Given the description of an element on the screen output the (x, y) to click on. 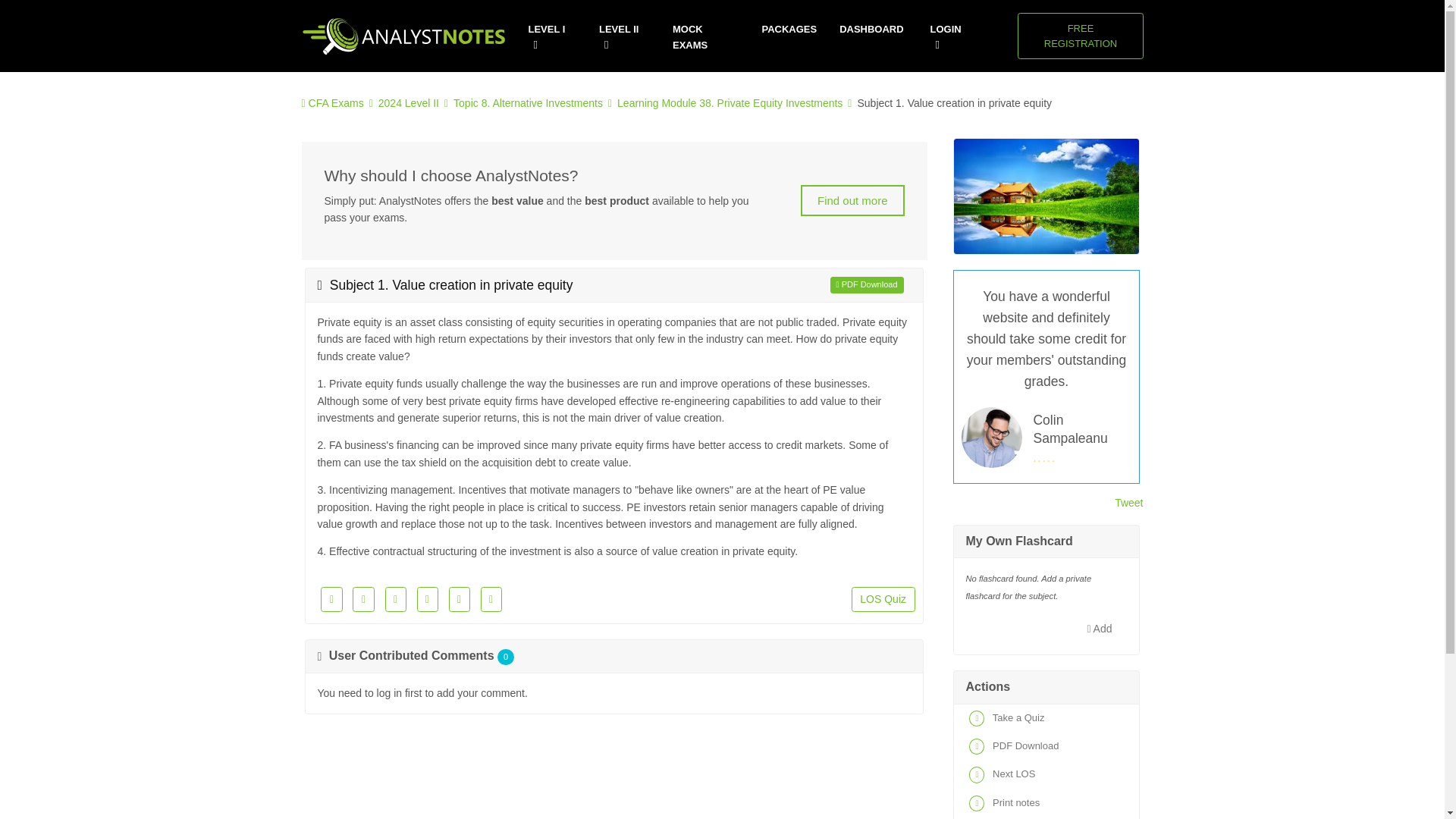
Next LOS (1045, 774)
PDF Download (866, 284)
Learning Module 38. Private Equity Investments (730, 102)
LOS Quiz (883, 599)
Tweet (1128, 502)
MOCK EXAMS (705, 37)
2024 Level II (408, 102)
LOGIN (951, 37)
PACKAGES (788, 29)
DASHBOARD (871, 29)
CFA Exams (336, 102)
PDF Download (1045, 746)
Add (1098, 628)
Take a Quiz (1045, 718)
LEVEL II (623, 37)
